Given the description of an element on the screen output the (x, y) to click on. 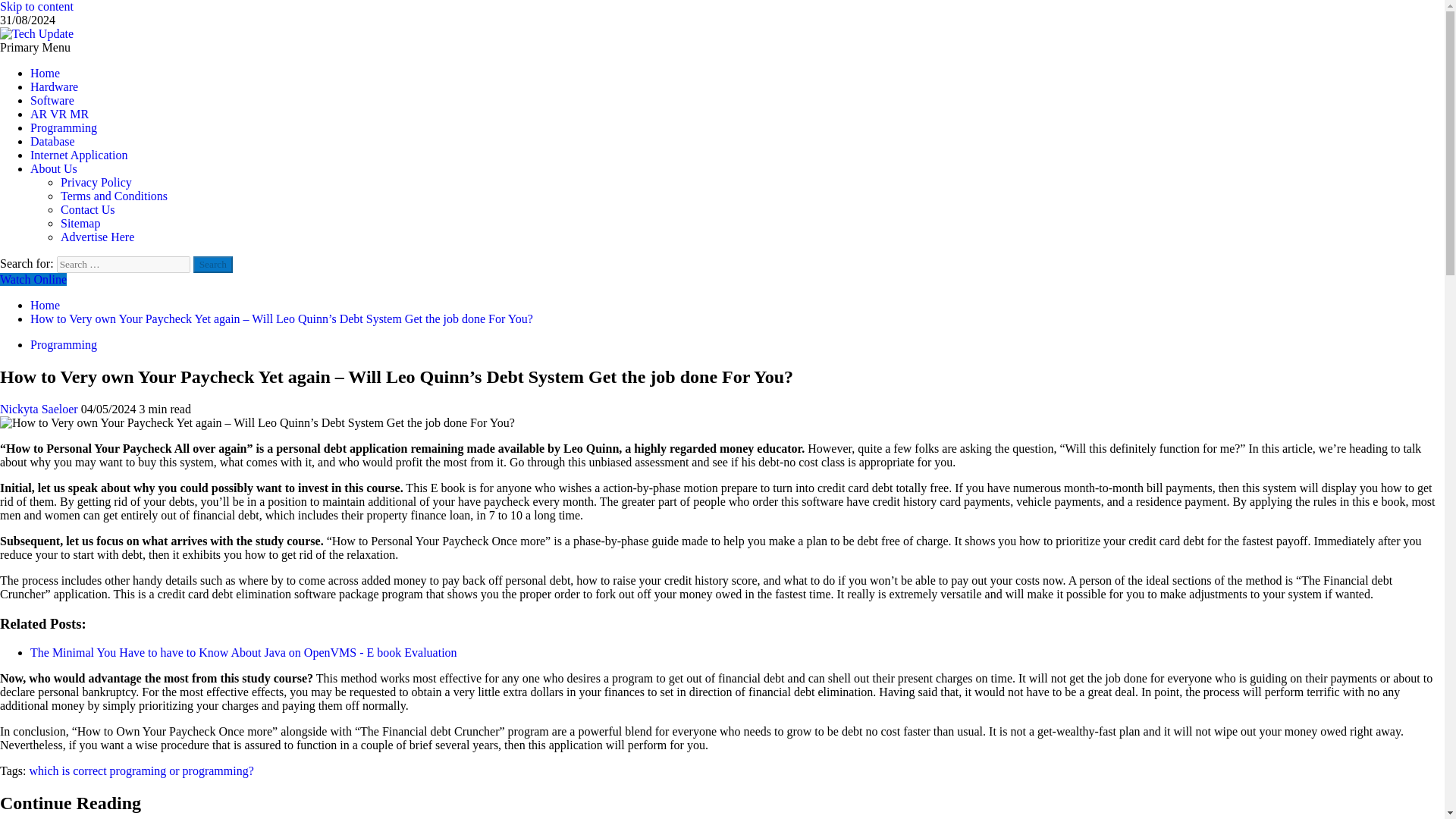
Software (52, 100)
Terms and Conditions (114, 195)
Advertise Here (97, 236)
Home (44, 72)
which is correct programing or programming? (141, 770)
Sitemap (80, 223)
Database (52, 141)
Search (212, 264)
Search (212, 264)
Search (212, 264)
